Given the description of an element on the screen output the (x, y) to click on. 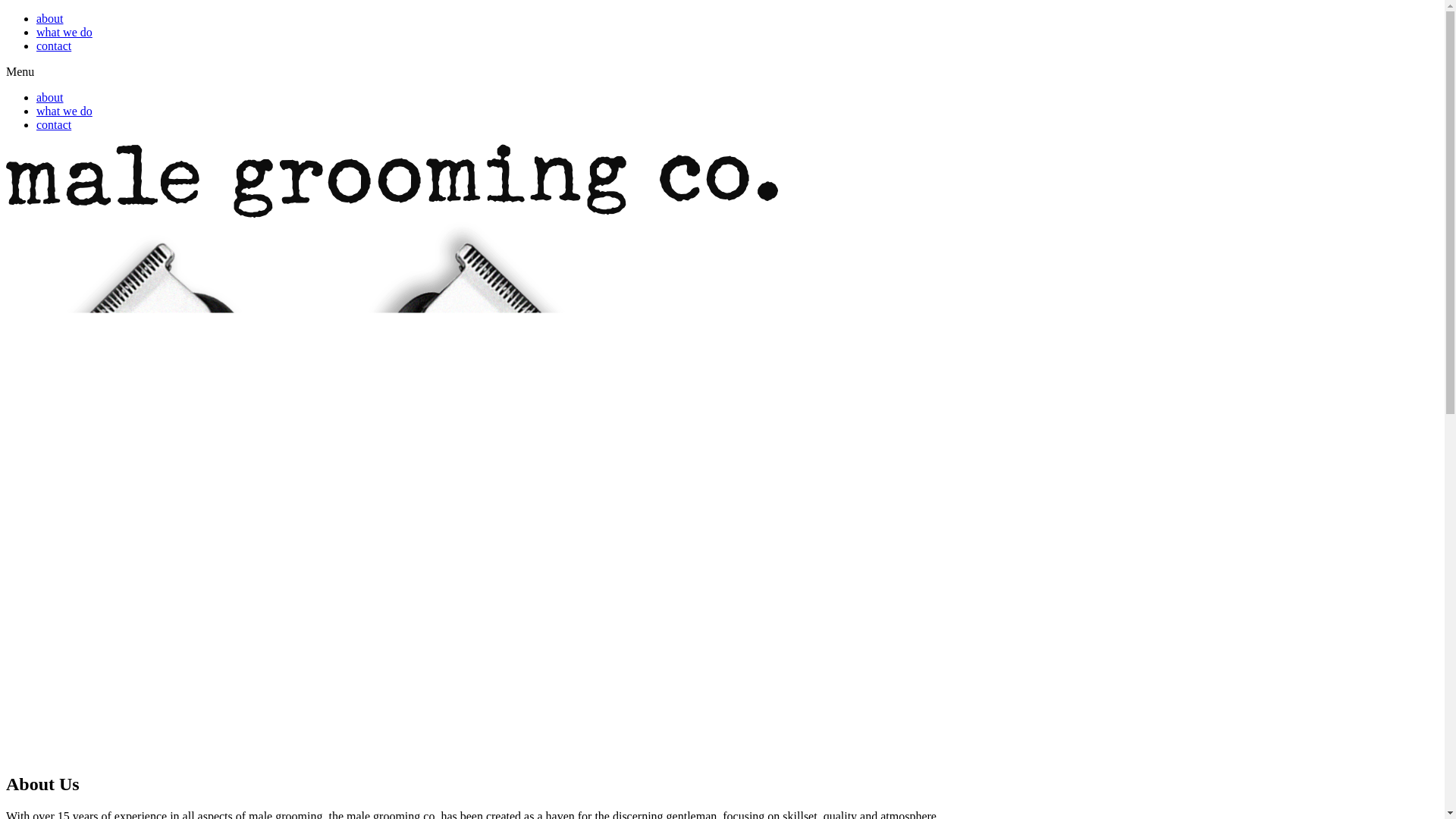
about Element type: text (49, 18)
what we do Element type: text (64, 31)
contact Element type: text (53, 124)
what we do Element type: text (64, 110)
about Element type: text (49, 97)
contact Element type: text (53, 45)
